Given the description of an element on the screen output the (x, y) to click on. 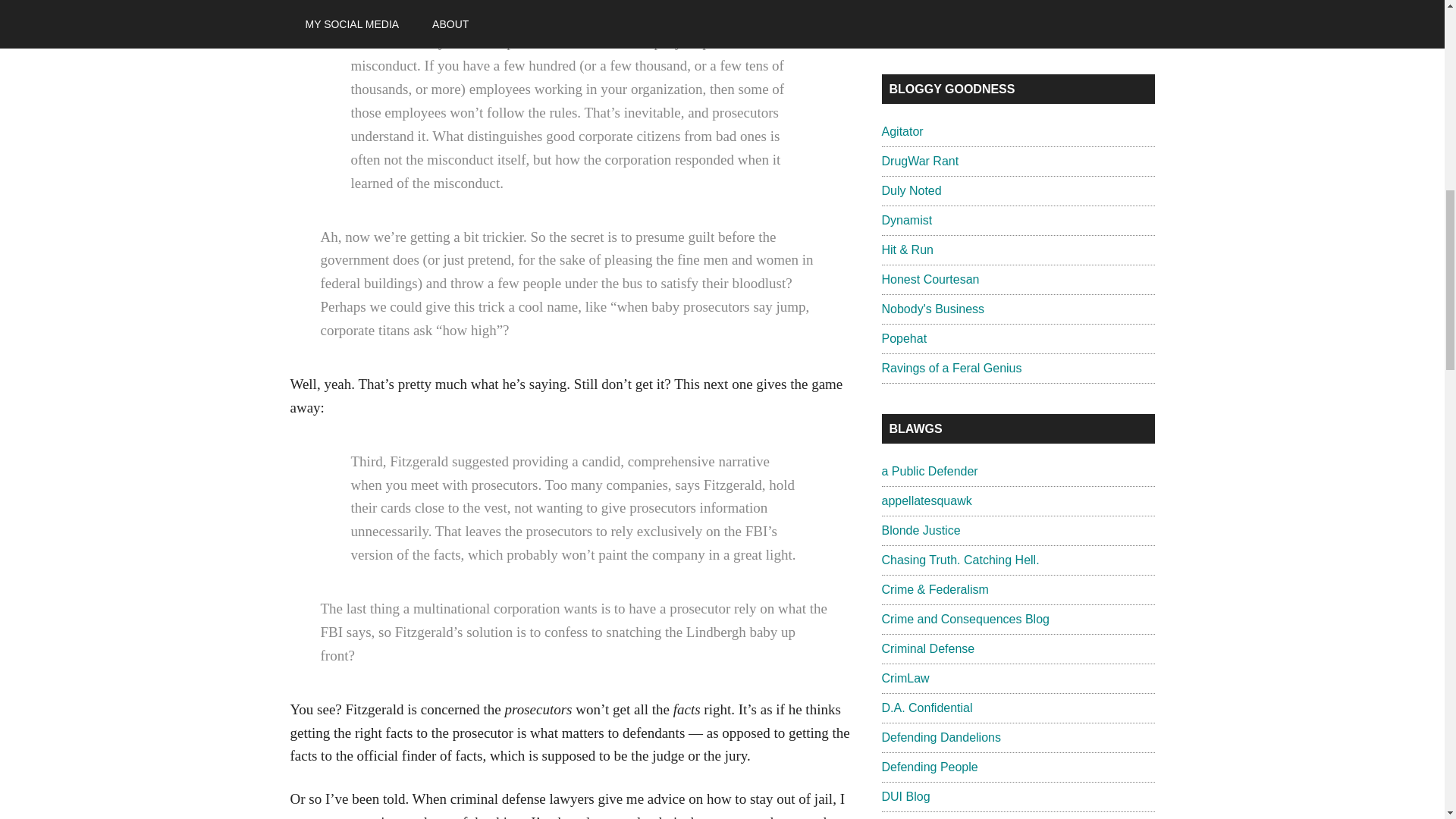
Radley Balko, libertarian investigative reporter (901, 131)
Lindsay Beyerstein, progressive writer (910, 190)
